Given the description of an element on the screen output the (x, y) to click on. 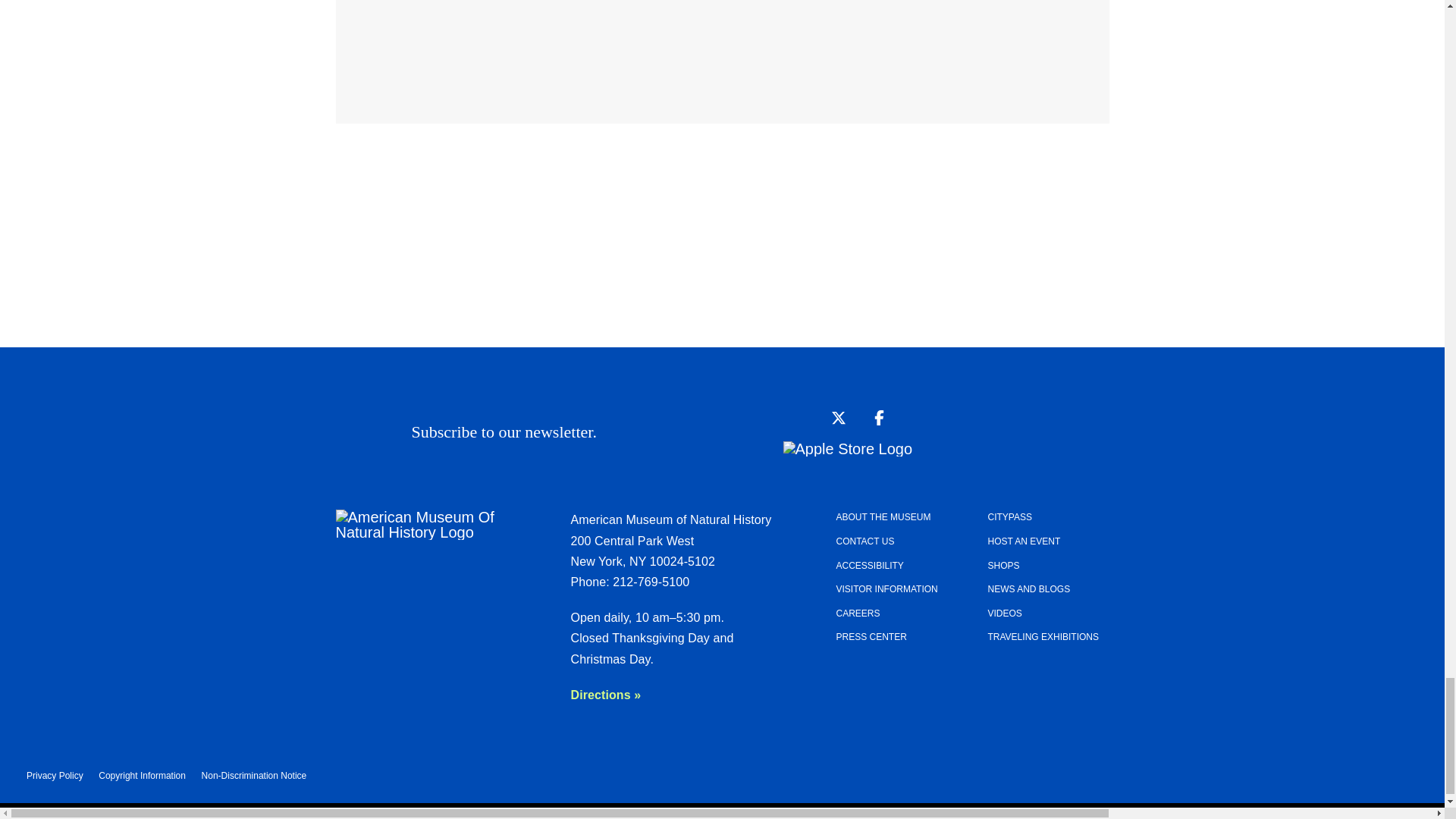
YouTube Channel (792, 417)
Subscribe to our newsletter. (691, 431)
Twitter Profile (834, 417)
